Given the description of an element on the screen output the (x, y) to click on. 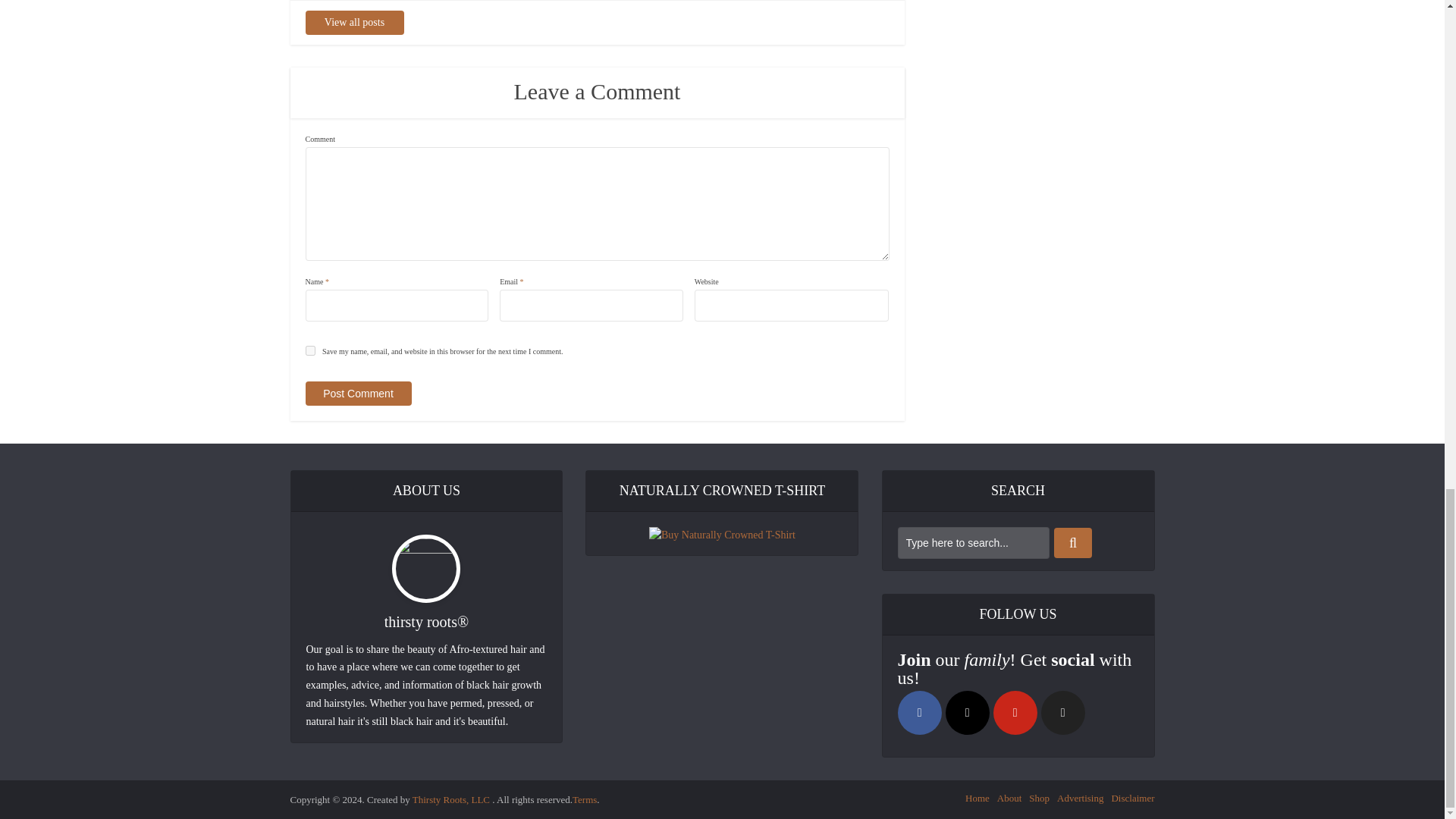
Type here to search... (973, 542)
yes (309, 350)
Type here to search... (973, 542)
Post Comment (357, 393)
